Given the description of an element on the screen output the (x, y) to click on. 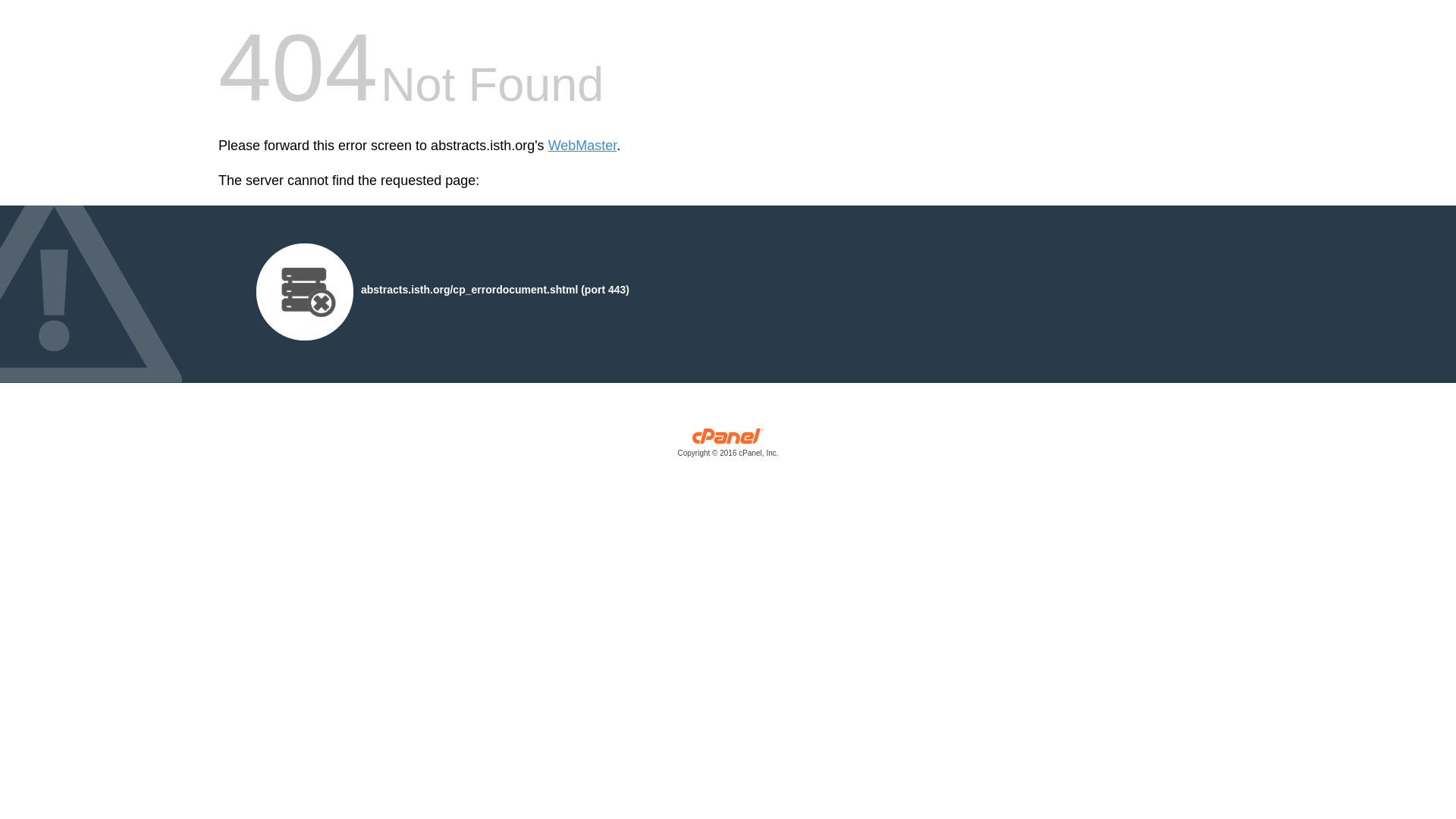
WebMaster (582, 145)
cPanel, Inc. (727, 446)
